Given the description of an element on the screen output the (x, y) to click on. 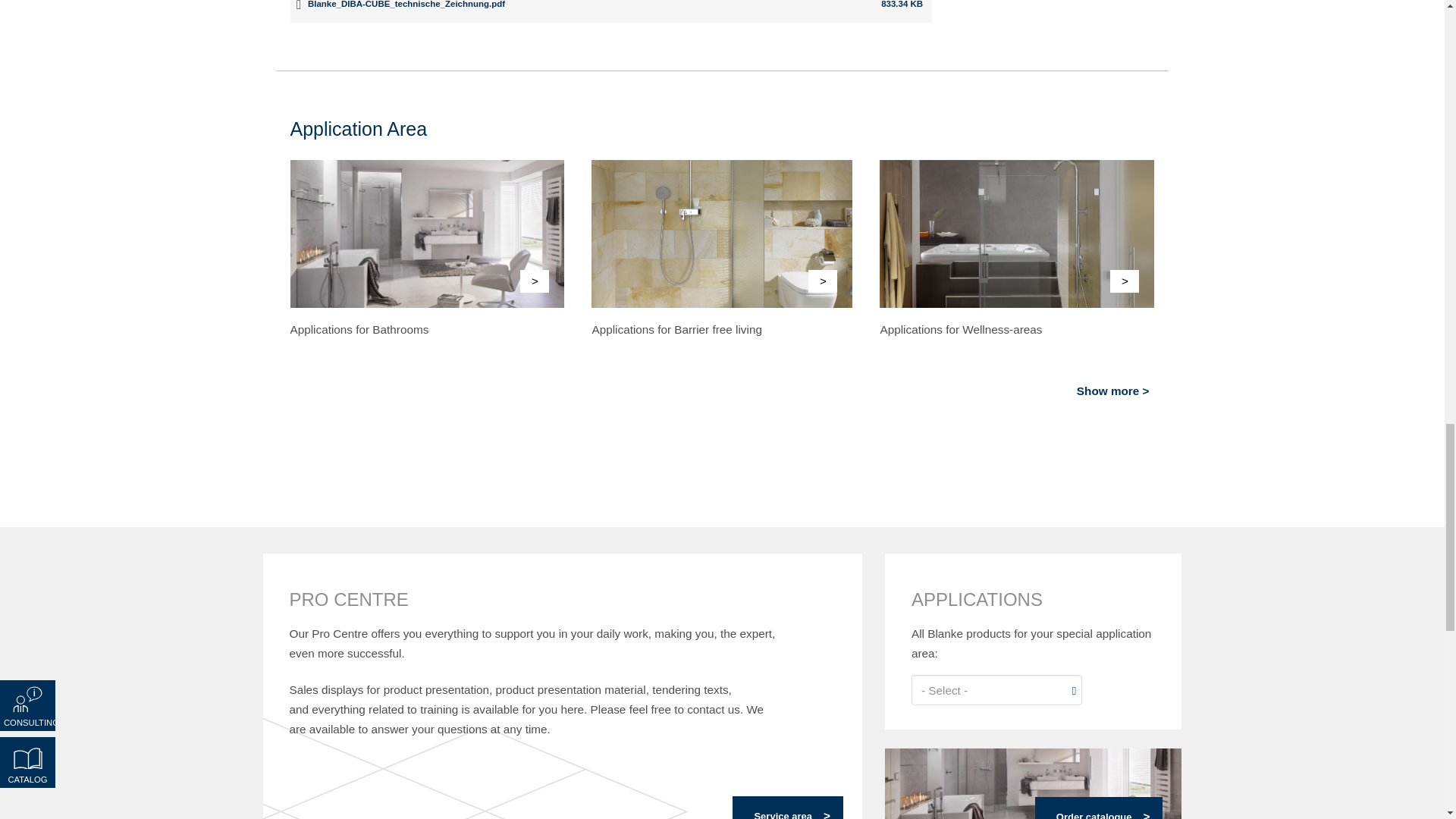
Applications for Bathrooms (358, 328)
Applications for Wellness-areas (960, 328)
Applications for Barrier free living (676, 328)
